Given the description of an element on the screen output the (x, y) to click on. 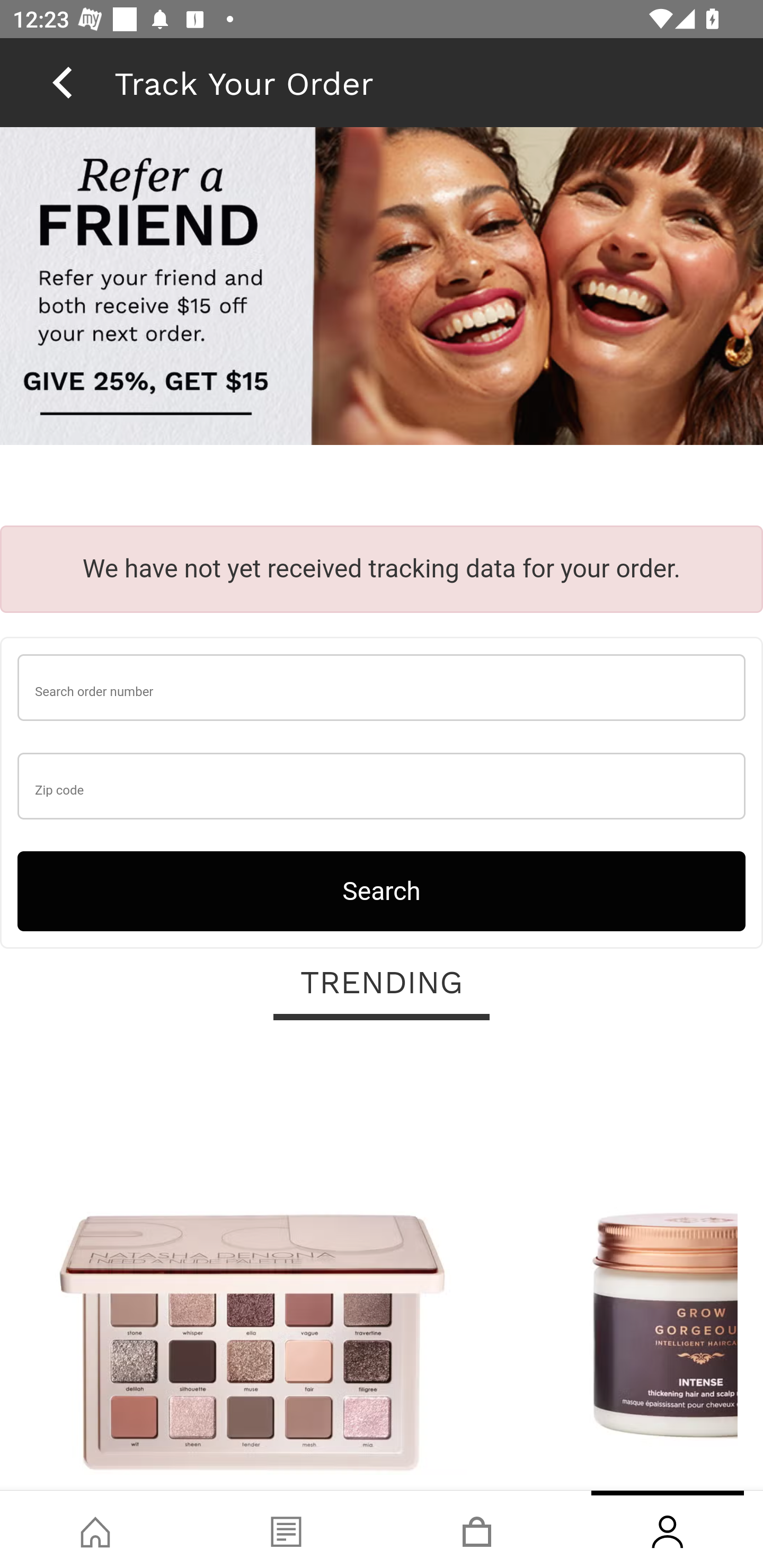
back (61, 82)
raf (381, 288)
Search (381, 890)
TRENDING (381, 983)
Natasha Denona I Need A Nude Palette (252, 1266)
Shop, tab, 1 of 4 (95, 1529)
Blog, tab, 2 of 4 (285, 1529)
Basket, tab, 3 of 4 (476, 1529)
Account, tab, 4 of 4 (667, 1529)
